Given the description of an element on the screen output the (x, y) to click on. 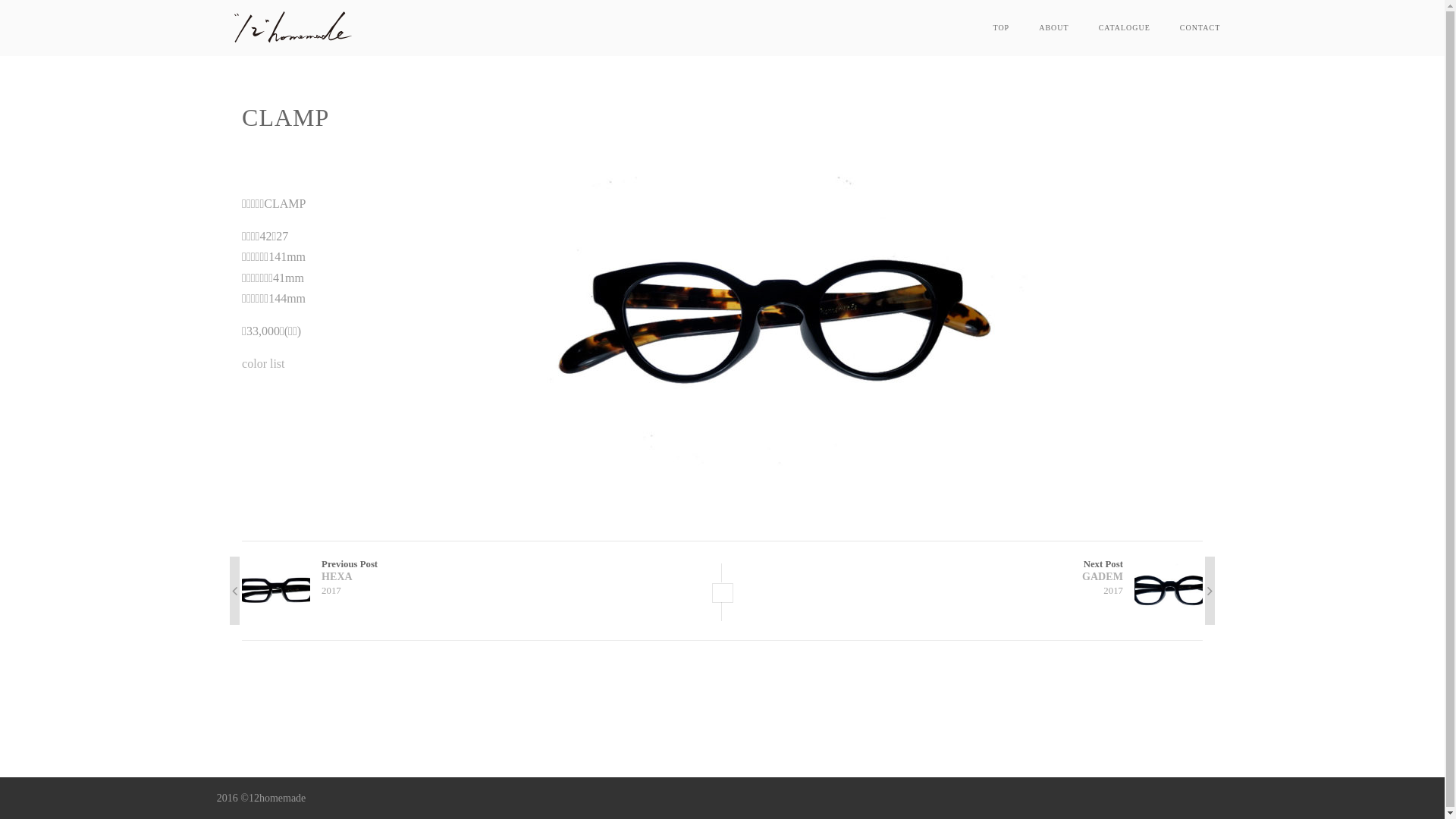
CATALOGUE Element type: text (1124, 27)
Next Post
GADEM Element type: text (961, 570)
Previous Post
HEXA Element type: text (481, 570)
TOP Element type: text (1000, 27)
2017 Element type: text (331, 590)
ABOUT Element type: text (1053, 27)
2017 Element type: text (1113, 590)
CLAMP Element type: hover (783, 495)
color list Element type: text (262, 363)
CONTACT Element type: text (1199, 27)
12homemade Element type: hover (292, 48)
